Given the description of an element on the screen output the (x, y) to click on. 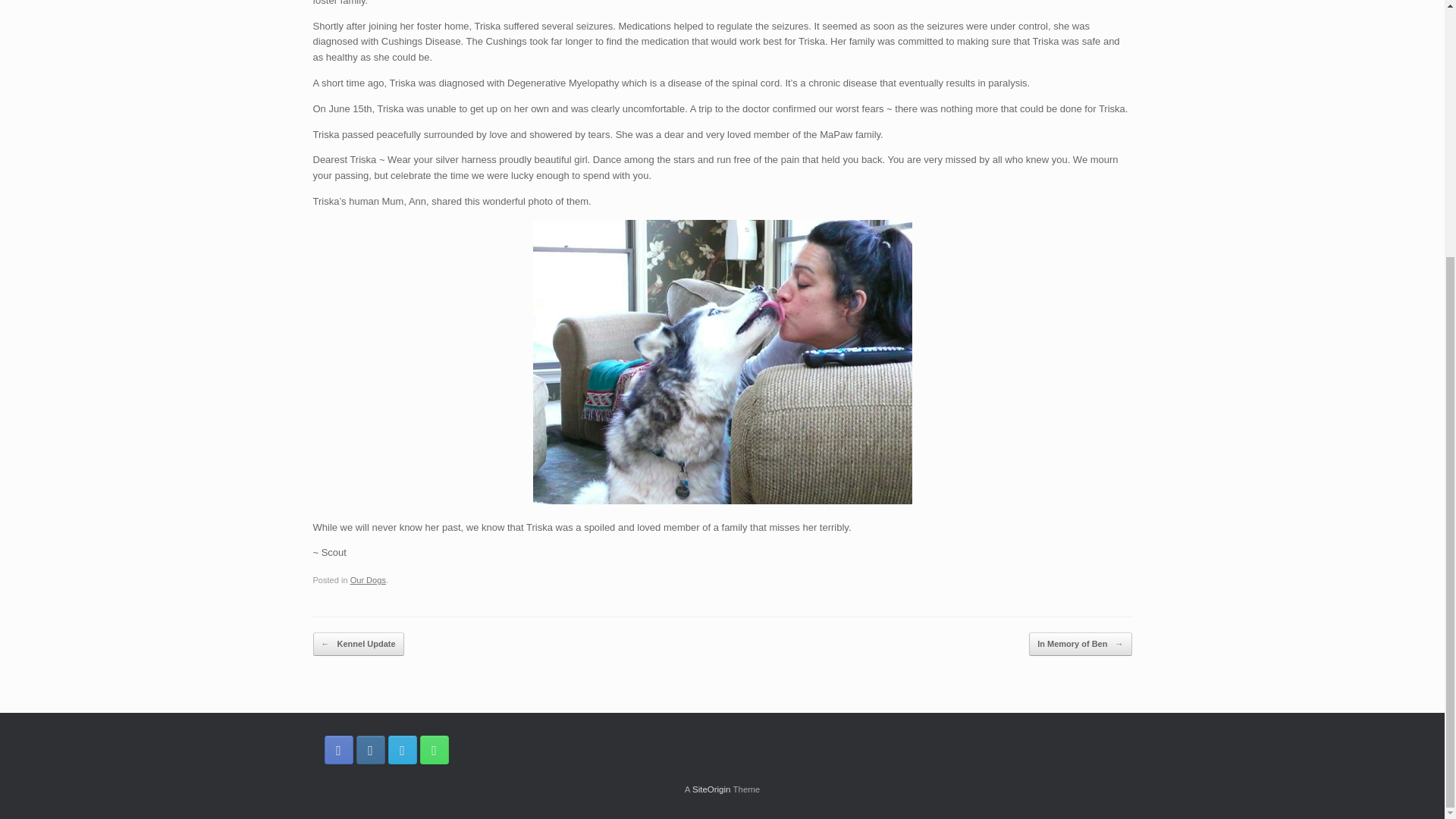
SiteOrigin (711, 788)
Our Dogs (367, 579)
triska (721, 362)
